Given the description of an element on the screen output the (x, y) to click on. 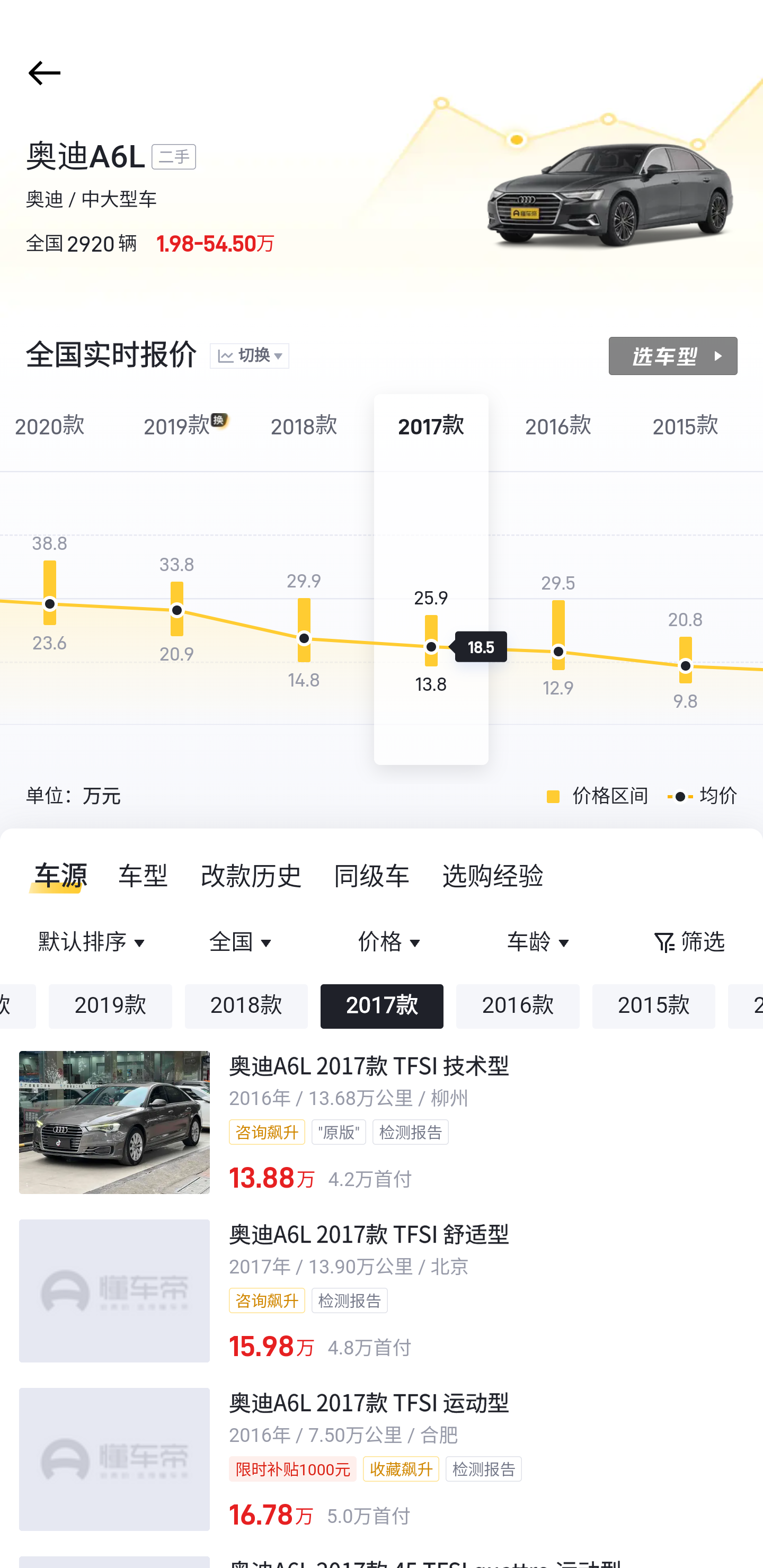
 (41, 72)
切换 (249, 356)
2020款 38.8 23.6 (54, 579)
2019 款 33.8 20.9 (177, 579)
2018款 29.9 14.8 (304, 579)
2017款 25.9 13.8 (431, 579)
2016款 29.5 12.9 (558, 579)
2015款 20.8 9.8 (685, 579)
车源 (55, 875)
车型 (143, 876)
改款历史 (251, 876)
同级车 (372, 876)
选购经验 (492, 876)
默认排序 (93, 943)
全国 (242, 943)
价格 (390, 943)
车龄 (538, 943)
筛选 (688, 943)
2019款 (110, 1006)
2018款 (246, 1006)
2017款 (381, 1006)
2016款 (517, 1006)
2015款 (654, 1006)
